Given the description of an element on the screen output the (x, y) to click on. 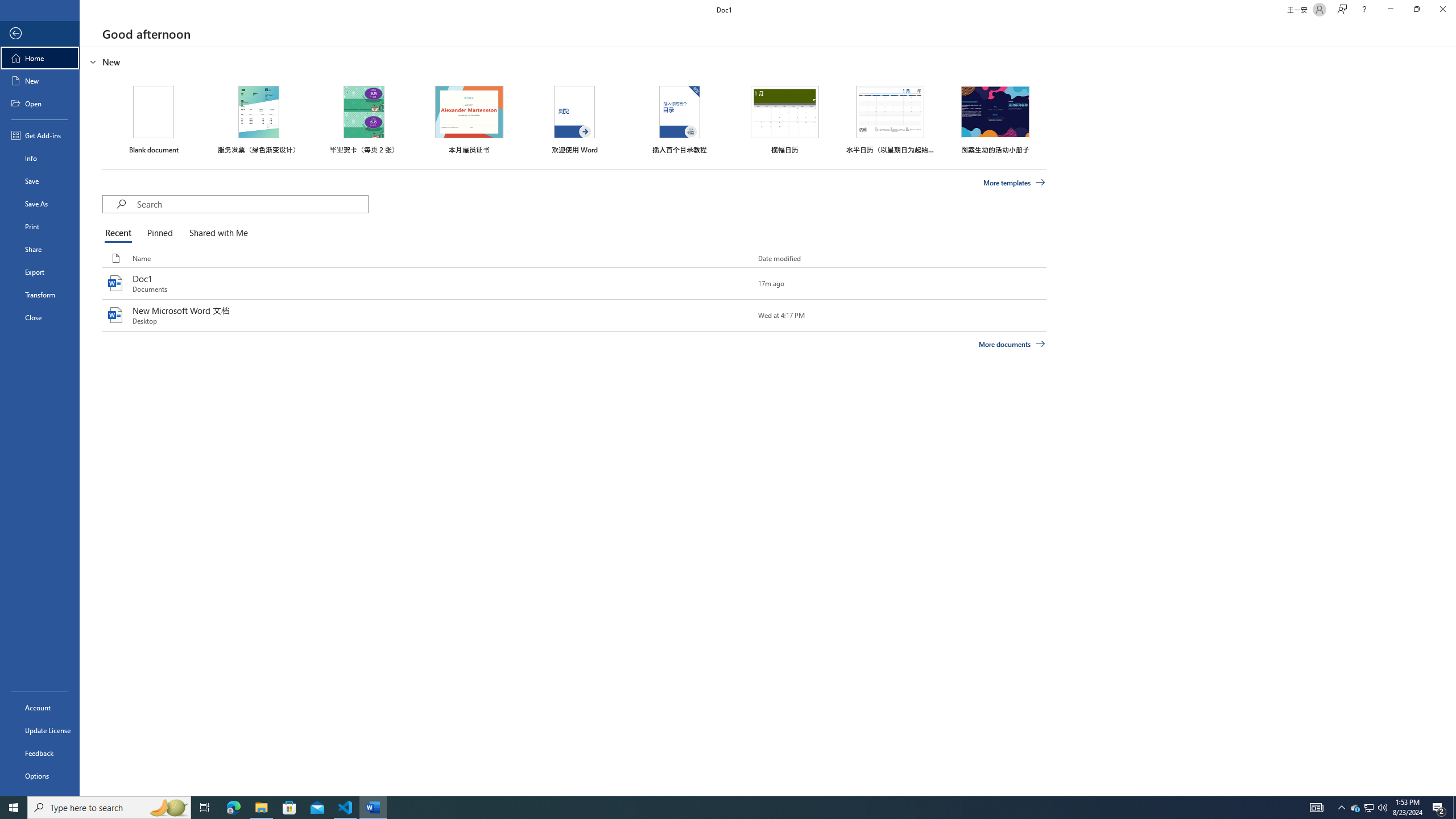
Minimize (1390, 9)
